Given the description of an element on the screen output the (x, y) to click on. 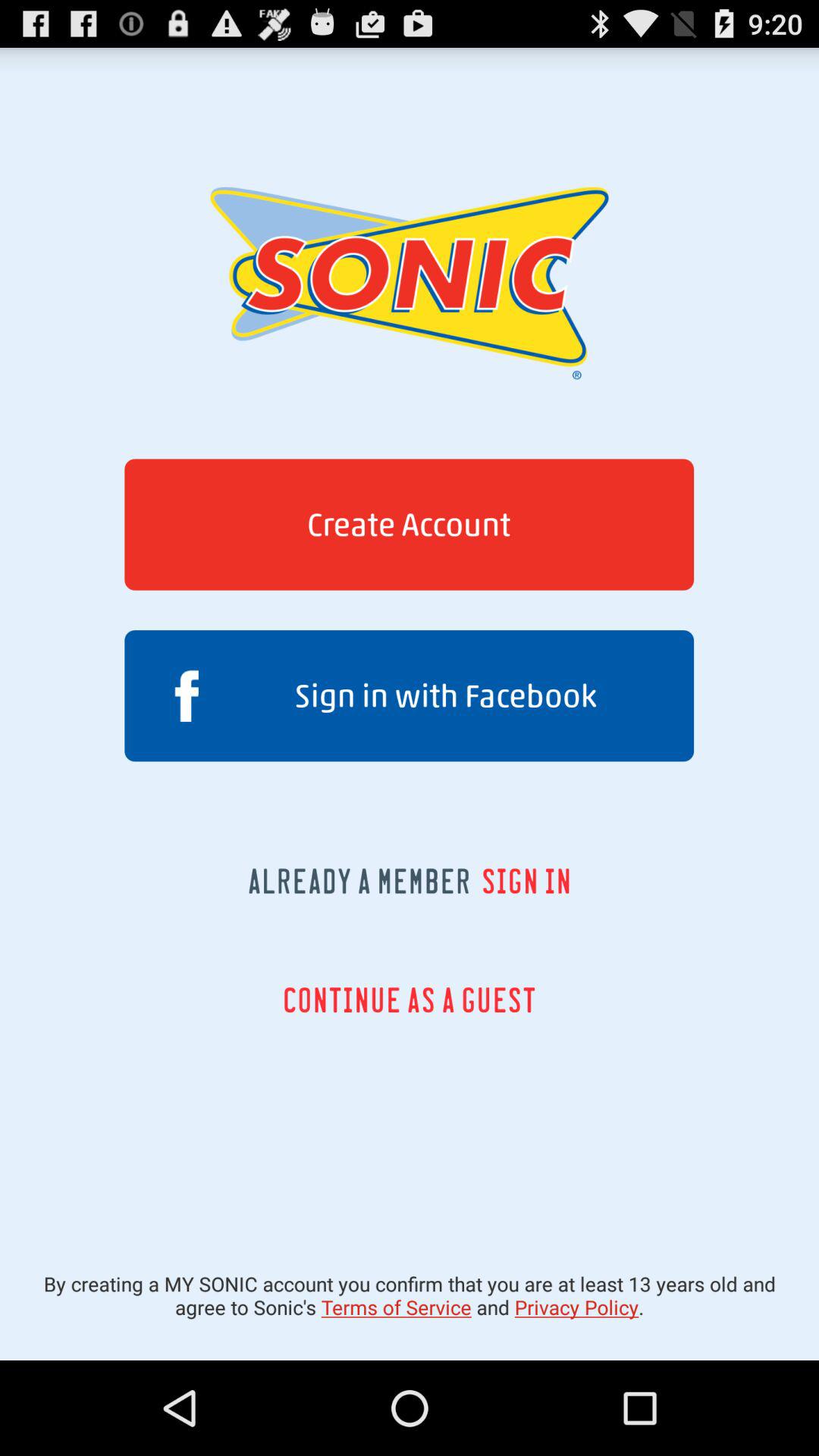
launch the icon below the already a member icon (409, 999)
